Given the description of an element on the screen output the (x, y) to click on. 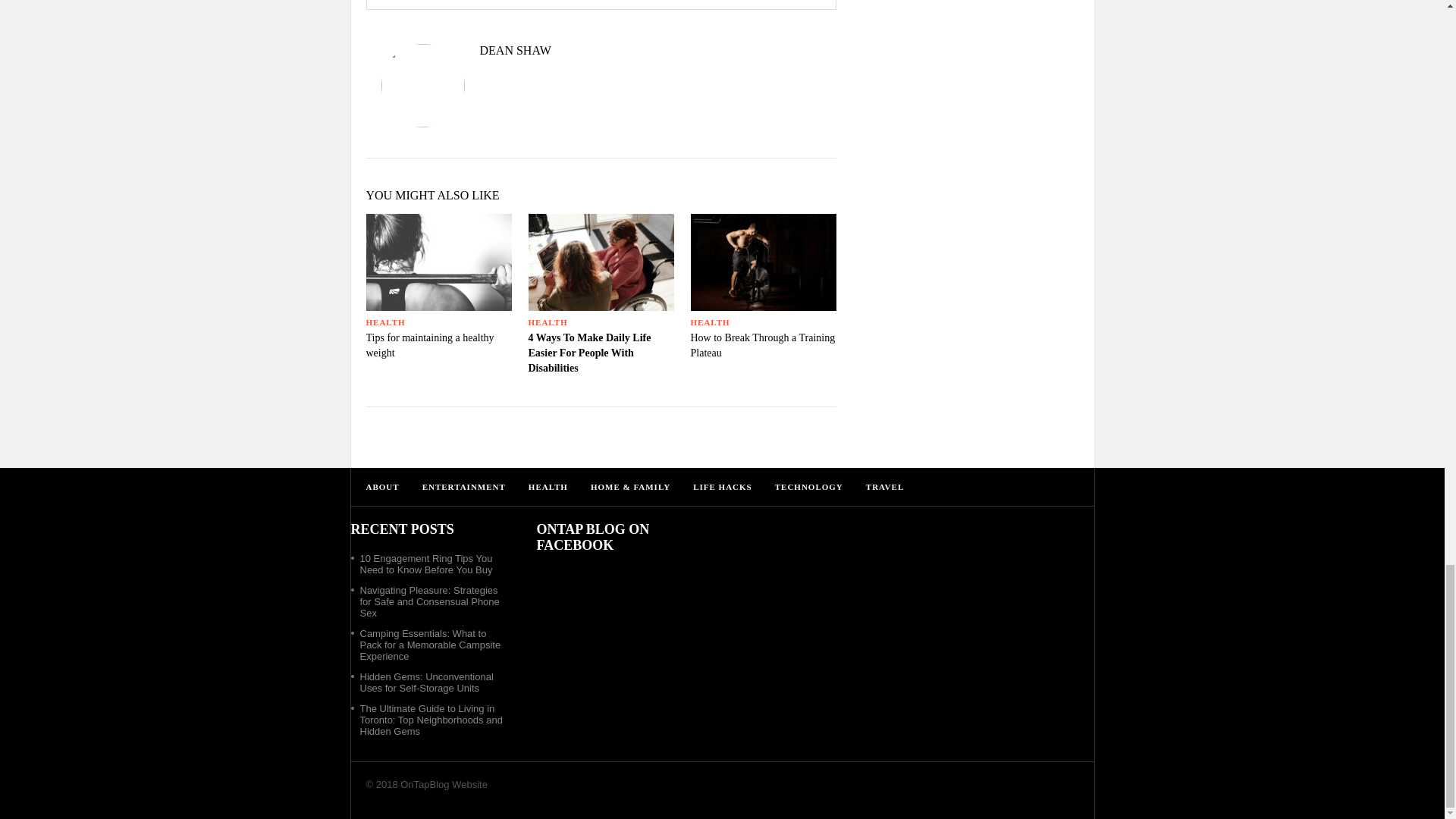
ABOUT (381, 486)
HEALTH (384, 321)
DEAN SHAW (600, 50)
Permanent Link: How to Break Through a Training Plateau (762, 345)
Tips for maintaining a healthy weight (429, 345)
HEALTH (709, 321)
How to Break Through a Training Plateau (762, 345)
Permanent Link: Tips for maintaining a healthy weight (429, 345)
ENTERTAINMENT (463, 486)
Posts by Dean Shaw (600, 50)
HEALTH (547, 321)
